Given the description of an element on the screen output the (x, y) to click on. 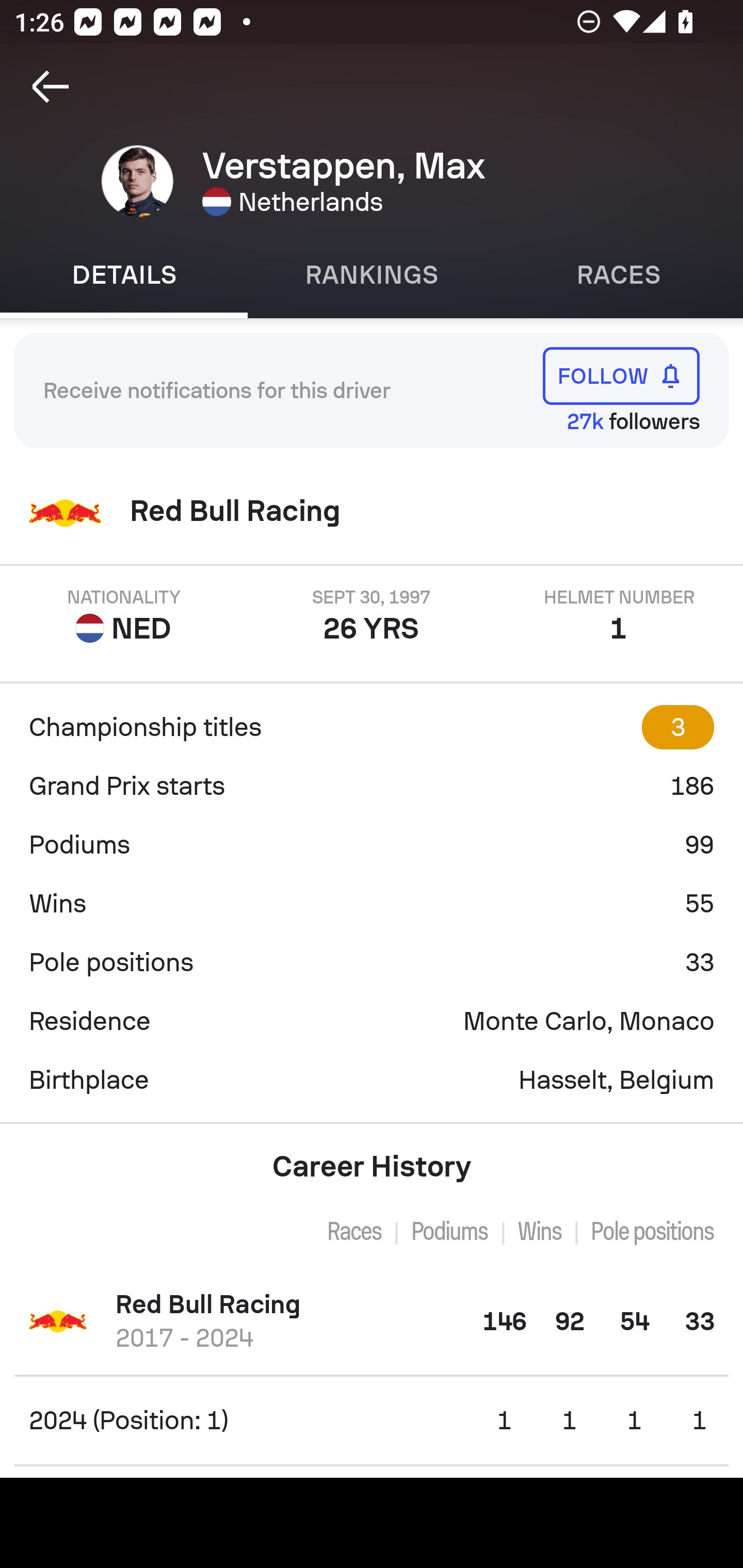
Navigate up (50, 86)
Rankings RANKINGS (371, 275)
Races RACES (619, 275)
FOLLOW (621, 375)
NATIONALITY NED (123, 616)
Championship titles 3 (371, 727)
Grand Prix starts 186 (371, 786)
Podiums 99 (371, 844)
Wins 55 (371, 903)
Pole positions 33 (371, 962)
Residence Monte Carlo, Monaco (371, 1021)
Birthplace Hasselt, Belgium (371, 1080)
Red Bull Racing 2017 - 2024 146 92 54 33 (371, 1321)
2024 (Position: 1) 1 1 1 1 (371, 1420)
